Given the description of an element on the screen output the (x, y) to click on. 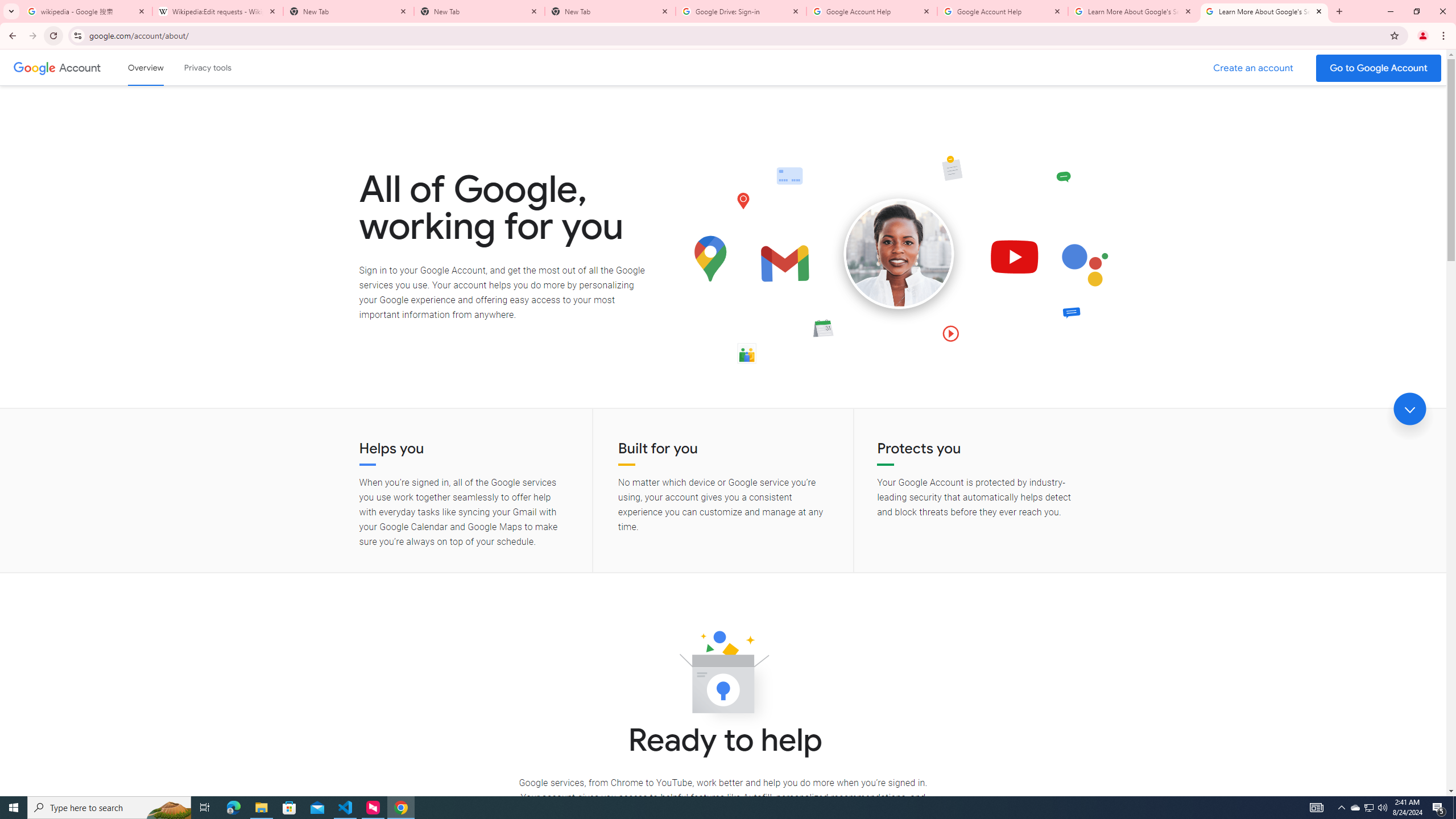
Google logo (34, 67)
Google Drive: Sign-in (740, 11)
New Tab (610, 11)
